Given the description of an element on the screen output the (x, y) to click on. 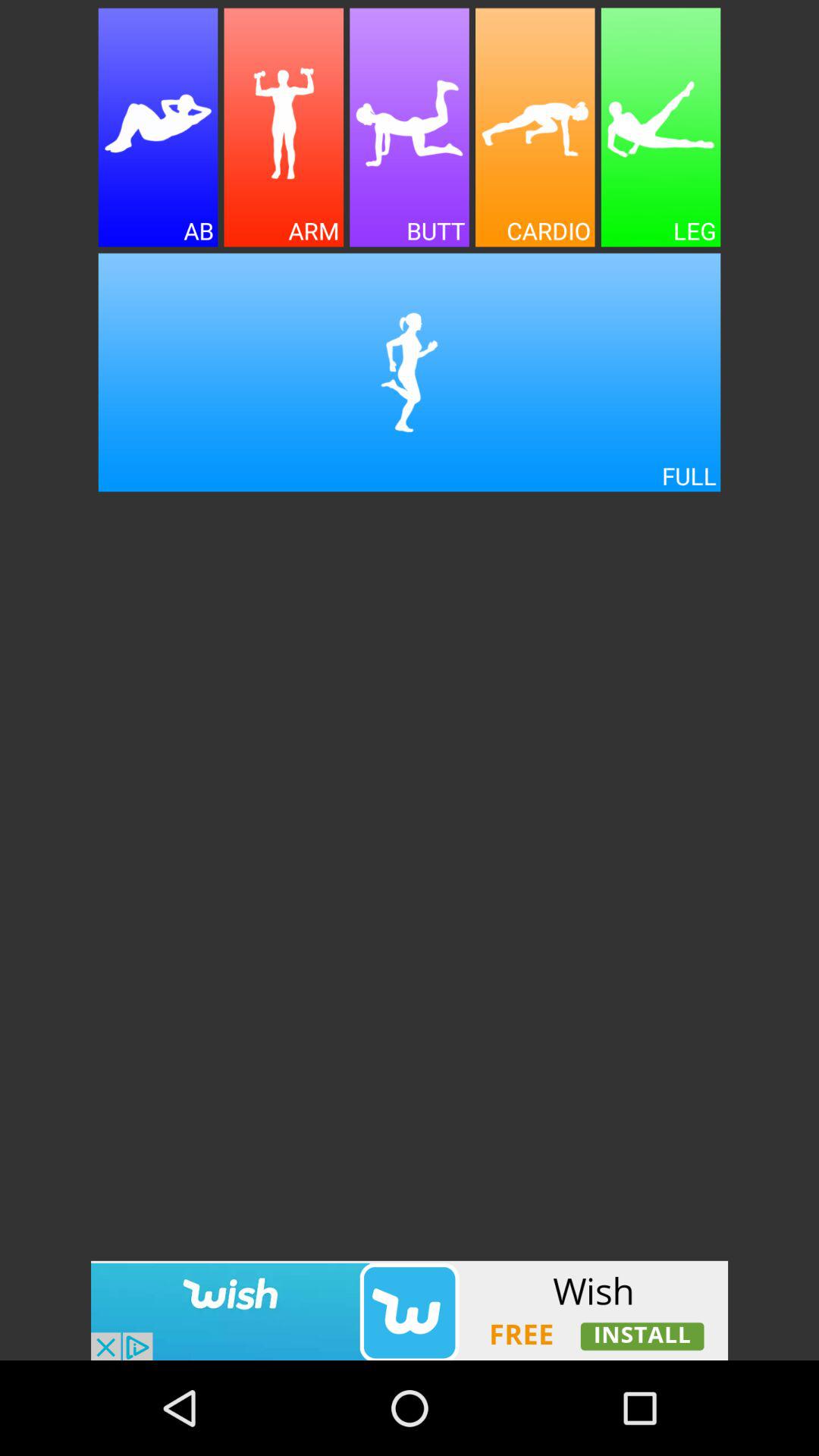
cardio (534, 126)
